Given the description of an element on the screen output the (x, y) to click on. 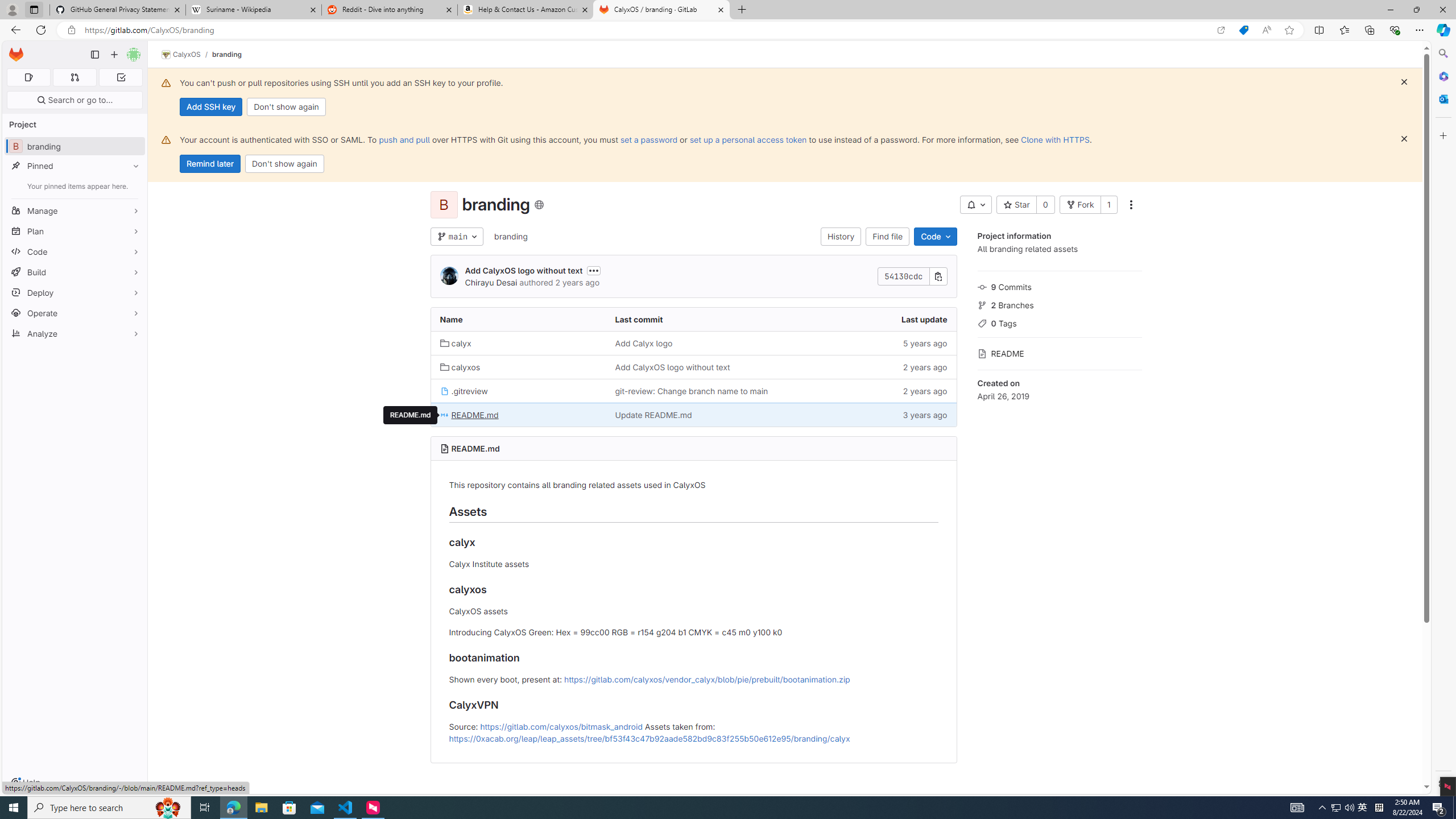
Class: s16 gl-alert-icon gl-alert-icon-no-title (165, 139)
Update README.md (693, 414)
Add Calyx logo (693, 342)
Suriname - Wikipedia (253, 9)
Help & Contact Us - Amazon Customer Service (525, 9)
Name (517, 319)
Analyze (74, 333)
Update README.md (652, 414)
Toggle commit description (593, 270)
Reddit - Dive into anything (390, 9)
Manage (74, 210)
Class: tree-item (693, 414)
README (1058, 352)
